Given the description of an element on the screen output the (x, y) to click on. 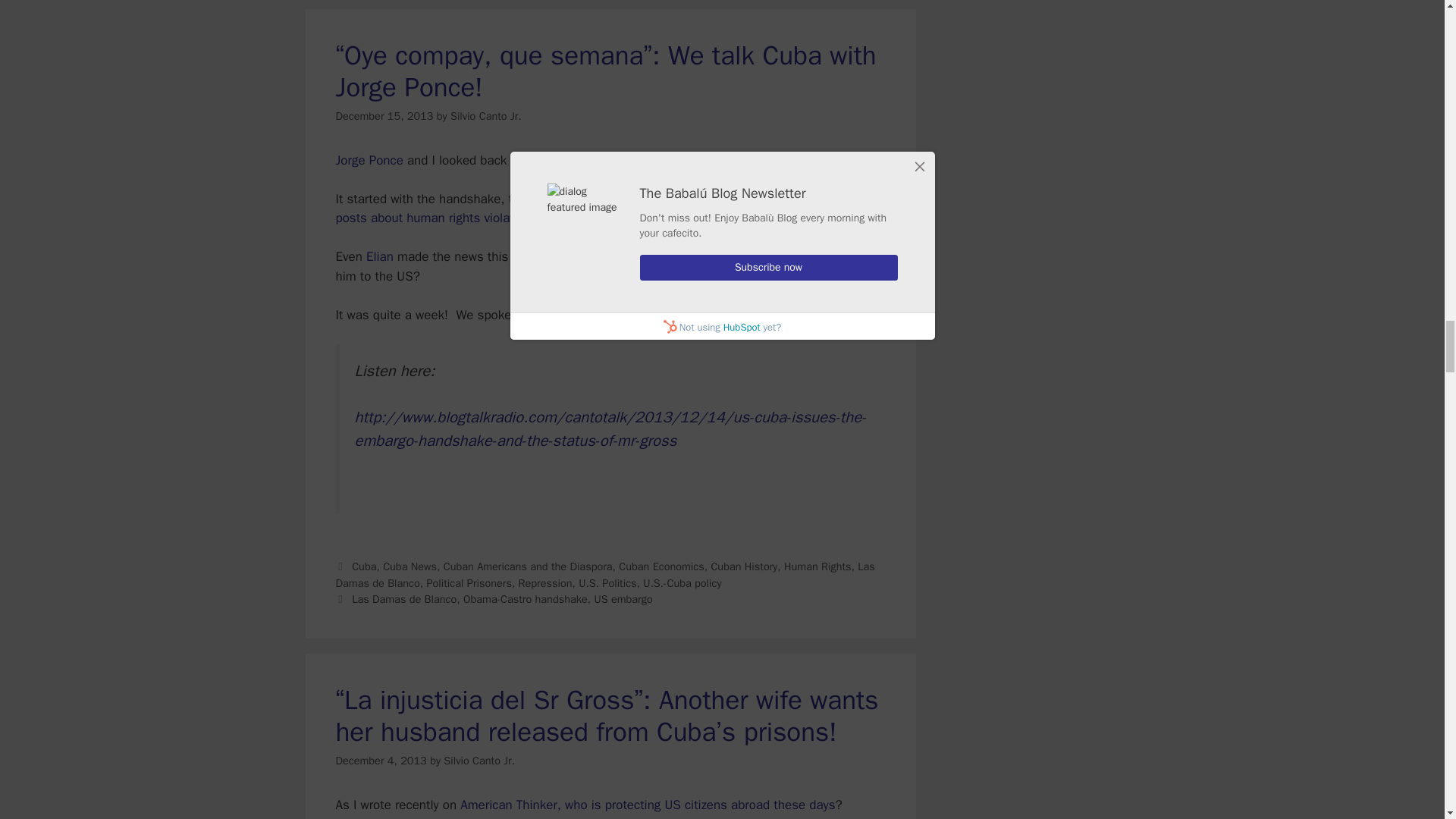
View all posts by Silvio Canto Jr. (479, 760)
View all posts by Silvio Canto Jr. (485, 115)
